Given the description of an element on the screen output the (x, y) to click on. 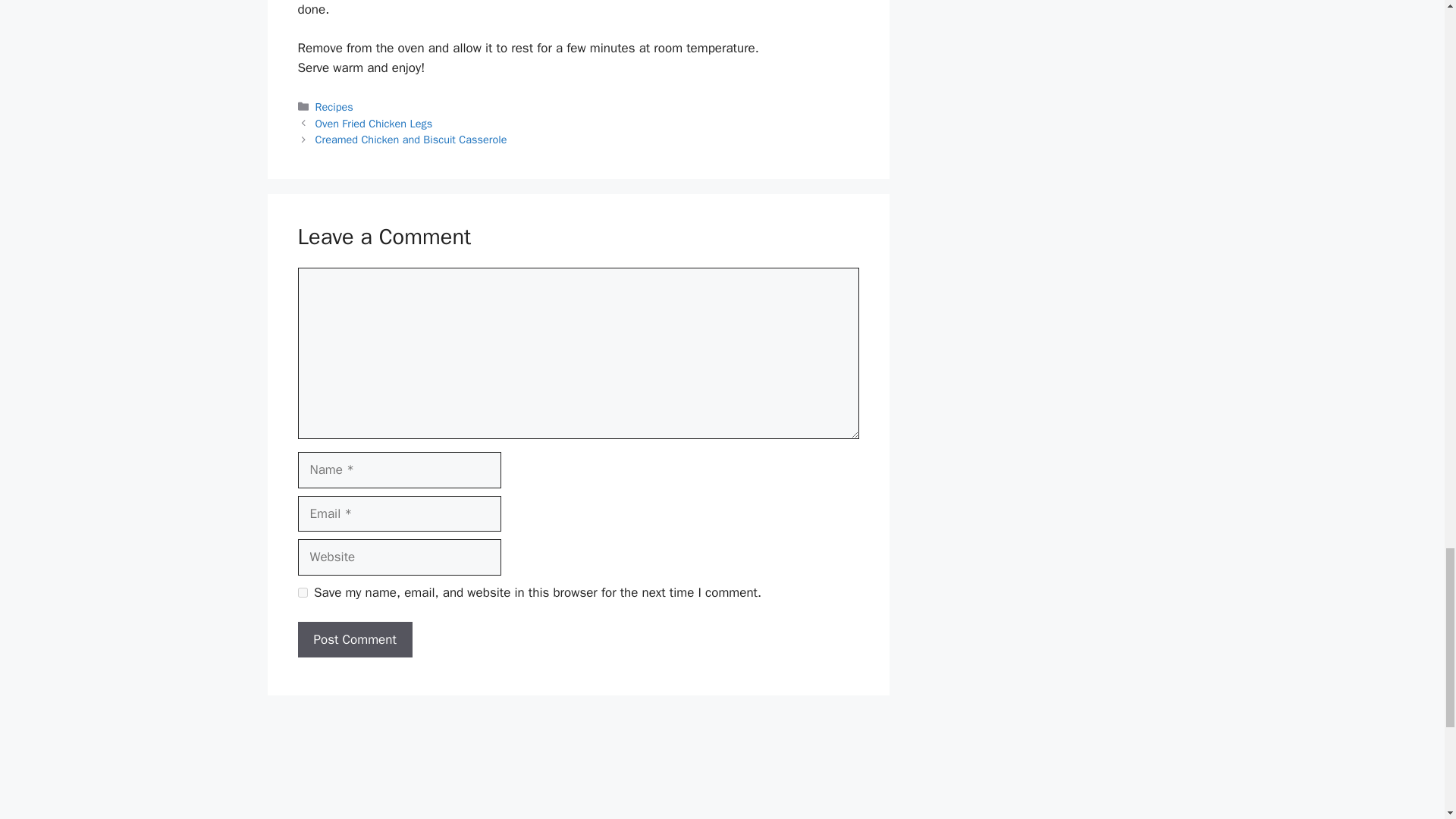
Creamed Chicken and Biscuit Casserole (410, 139)
Post Comment (354, 639)
Oven Fried Chicken Legs (373, 123)
Recipes (334, 106)
Advertisement (577, 764)
yes (302, 592)
Post Comment (354, 639)
